Given the description of an element on the screen output the (x, y) to click on. 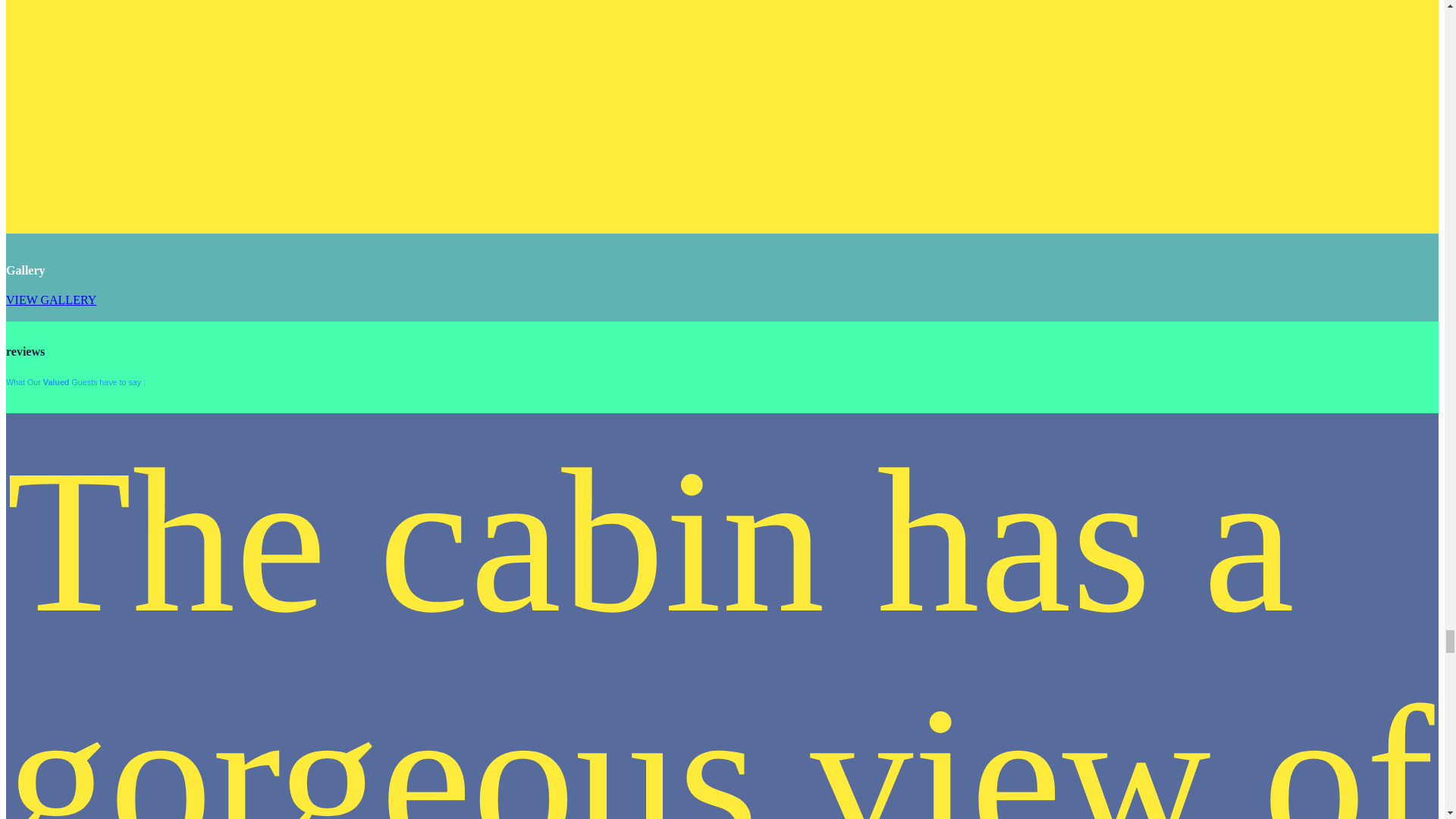
VIEW GALLERY (50, 299)
